Given the description of an element on the screen output the (x, y) to click on. 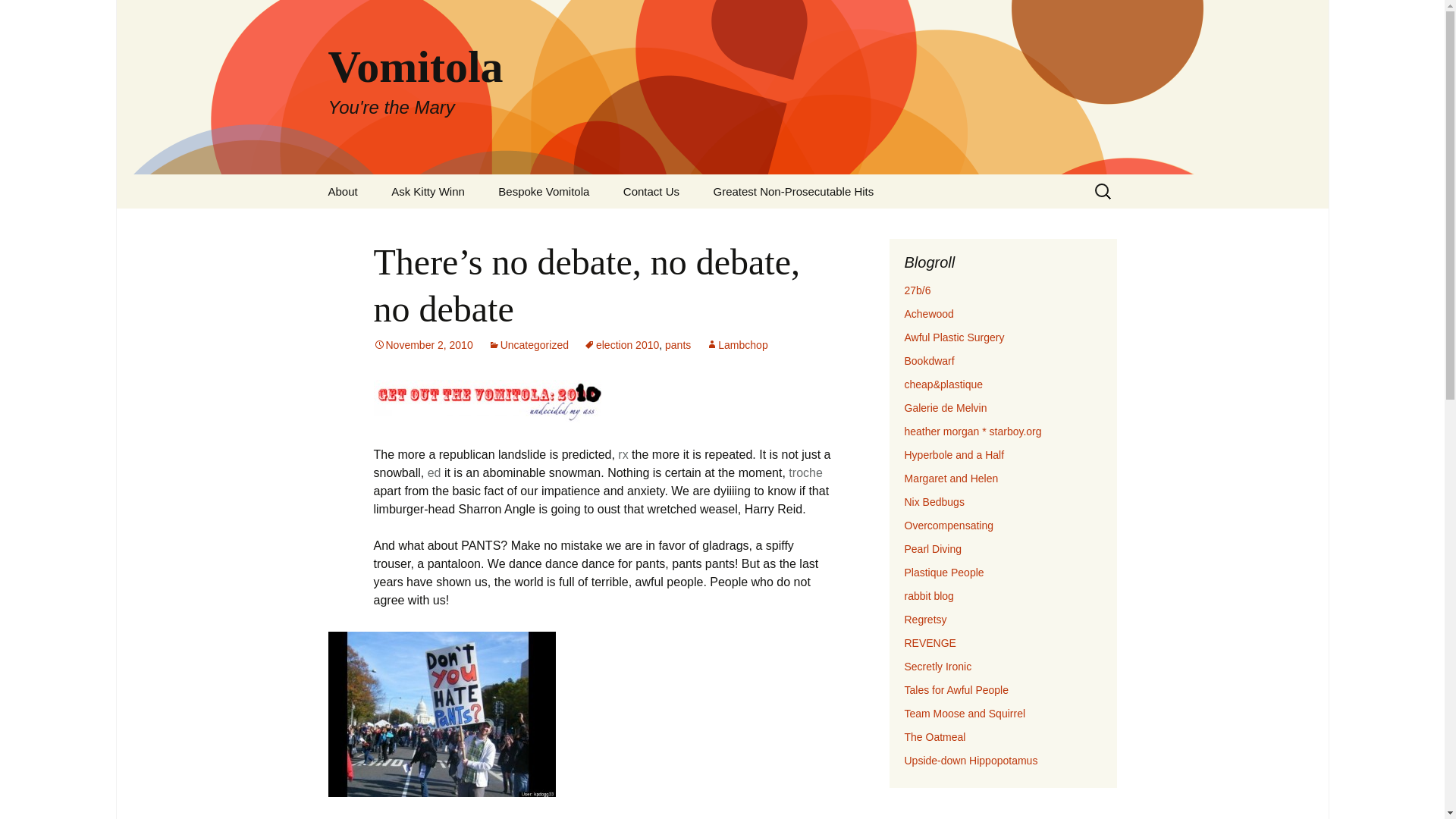
election 2010 (621, 345)
no pants protest (440, 713)
Overcompensating (948, 525)
Pearl Diving (932, 548)
Margaret and Helen (950, 478)
Bookdwarf (928, 360)
ed (434, 472)
Bespoke Vomitola (543, 191)
Ask Kitty Winn (427, 191)
Nix Bedbugs (933, 501)
Been bedbuggered? (933, 501)
the pearls of the city (932, 548)
Melvin, a beagle who speaks French (945, 408)
velociraptors, pirates, sharks and boats (954, 454)
